Given the description of an element on the screen output the (x, y) to click on. 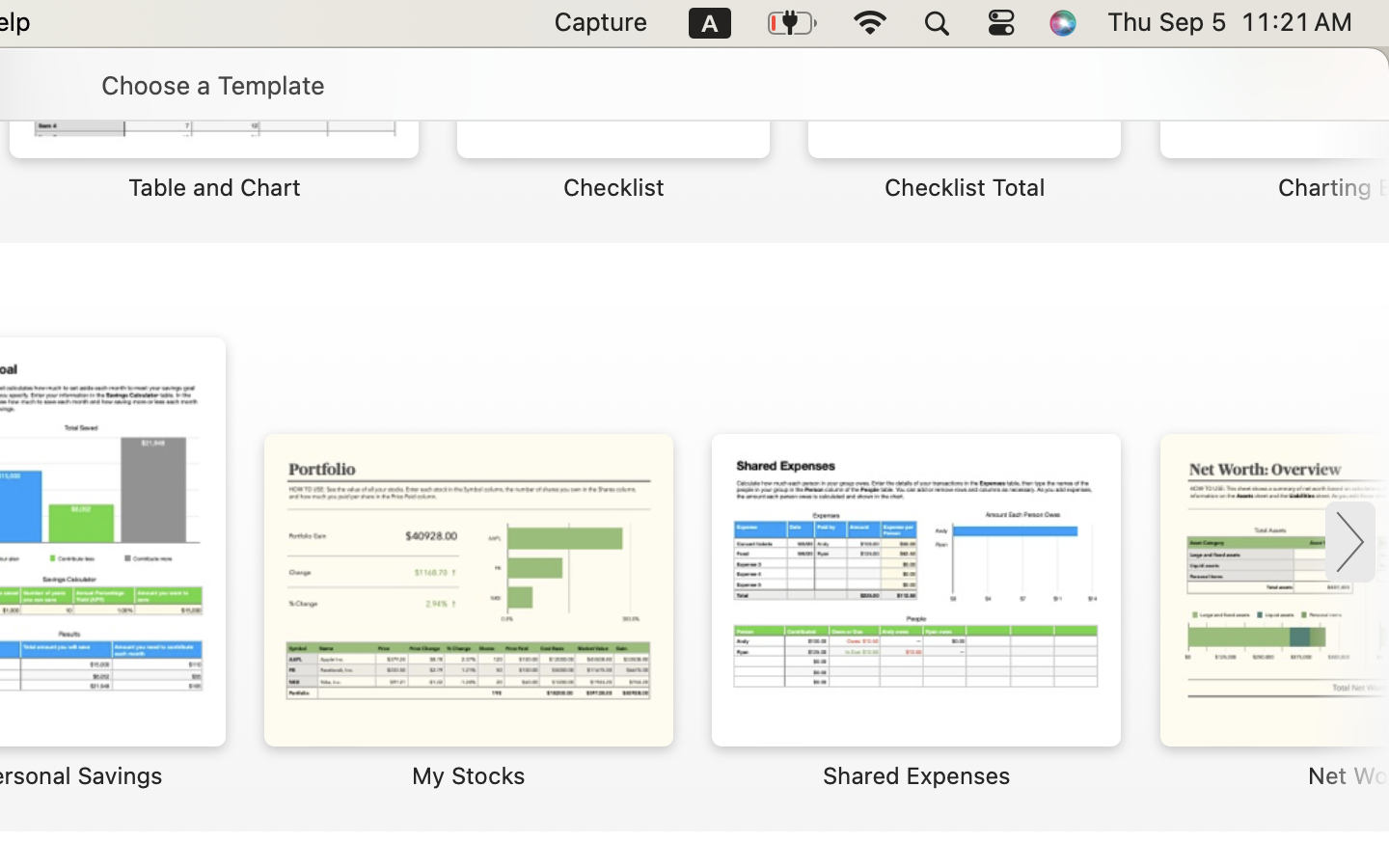
Choose a Template Element type: AXStaticText (211, 84)
